Given the description of an element on the screen output the (x, y) to click on. 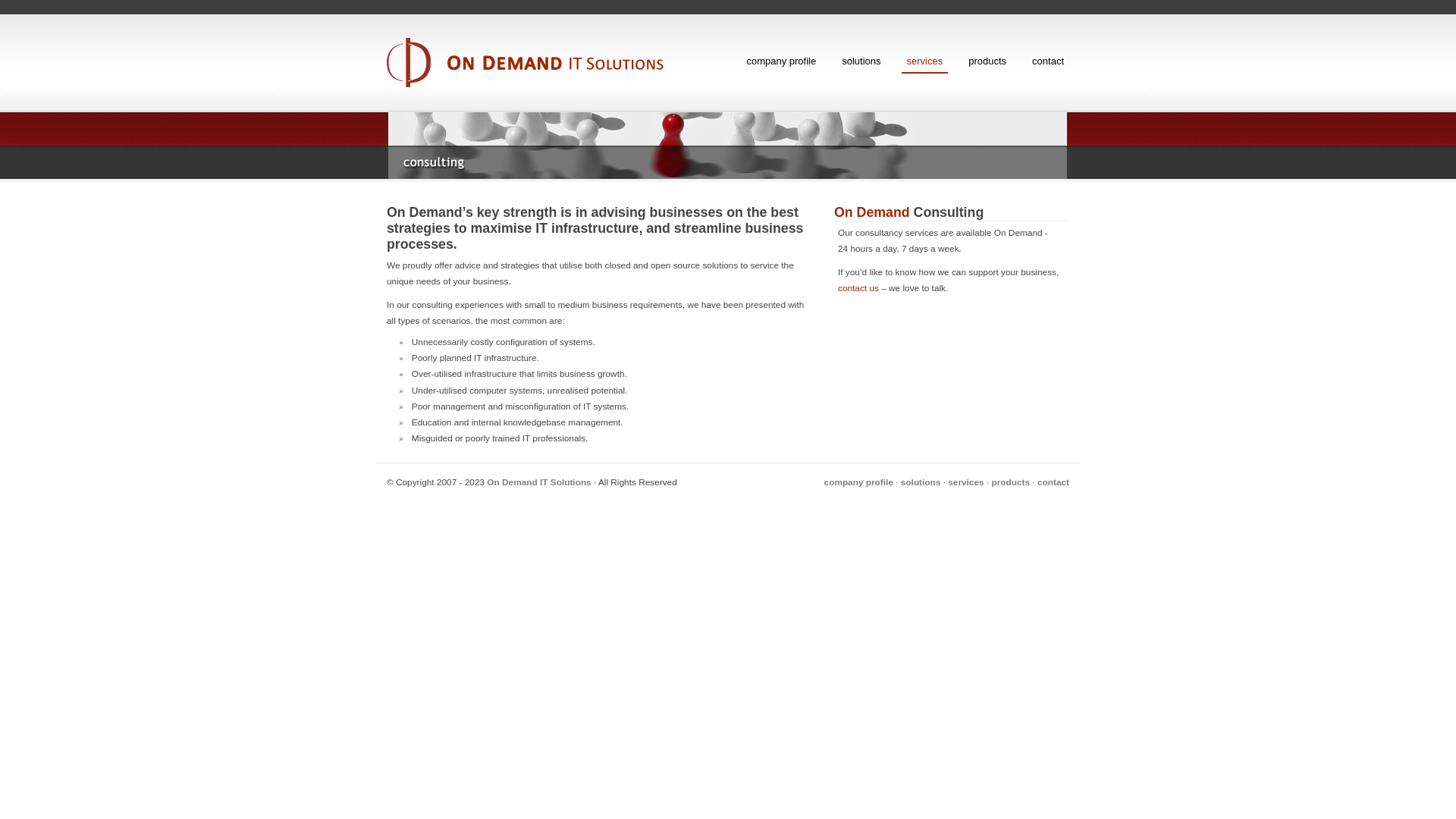
products Element type: text (1010, 481)
contact Element type: text (1047, 61)
On Demand IT Solutions Element type: text (538, 481)
products Element type: text (987, 61)
company profile Element type: text (858, 481)
contact us Element type: text (857, 287)
solutions Element type: text (860, 61)
solutions Element type: text (920, 481)
services Element type: text (965, 481)
services Element type: text (924, 61)
company profile Element type: text (780, 61)
contact Element type: text (1053, 481)
